Given the description of an element on the screen output the (x, y) to click on. 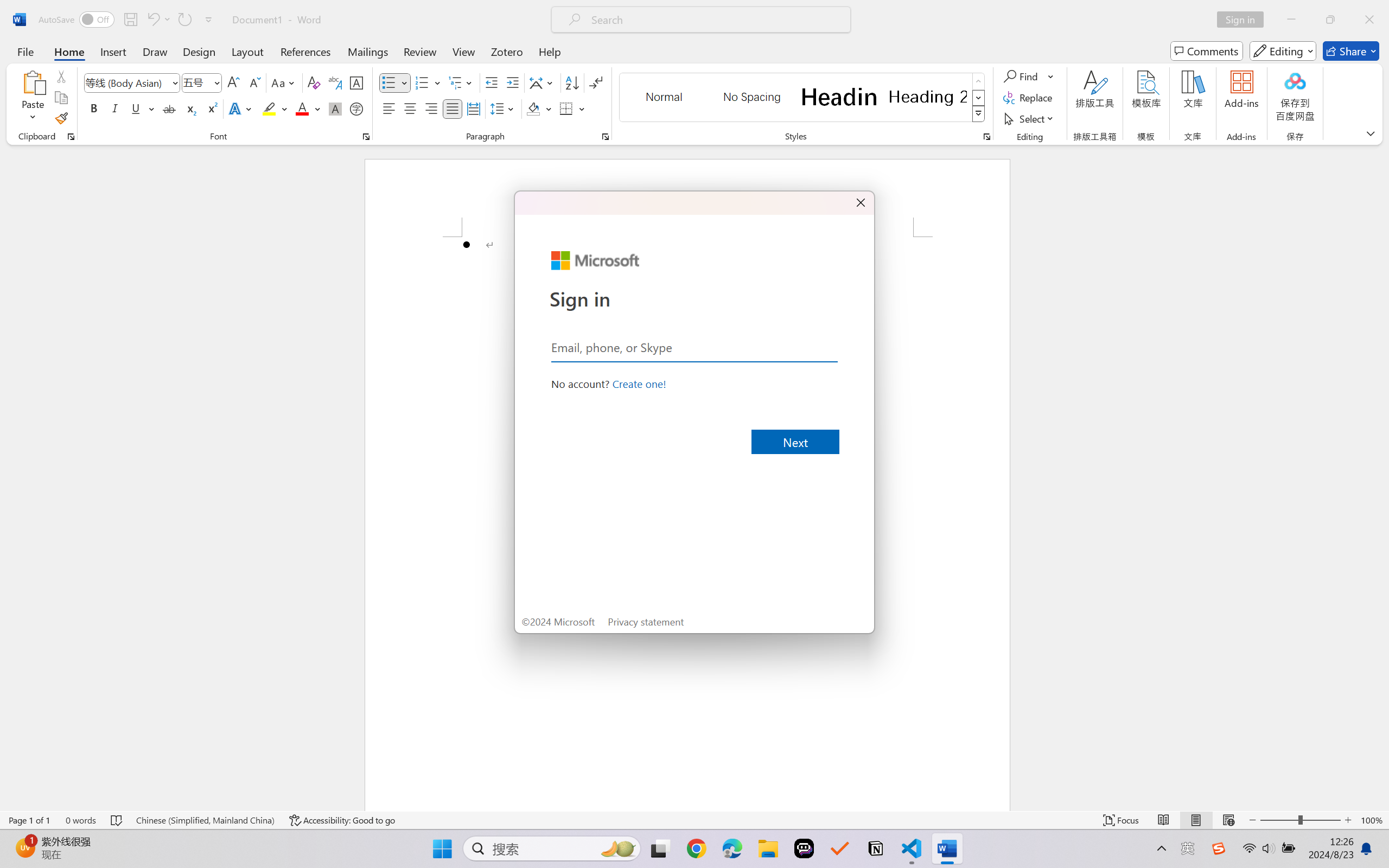
AutomationID: QuickStylesGallery (802, 97)
Repeat Bullet Default (184, 19)
Undo Bullet Default (152, 19)
